Given the description of an element on the screen output the (x, y) to click on. 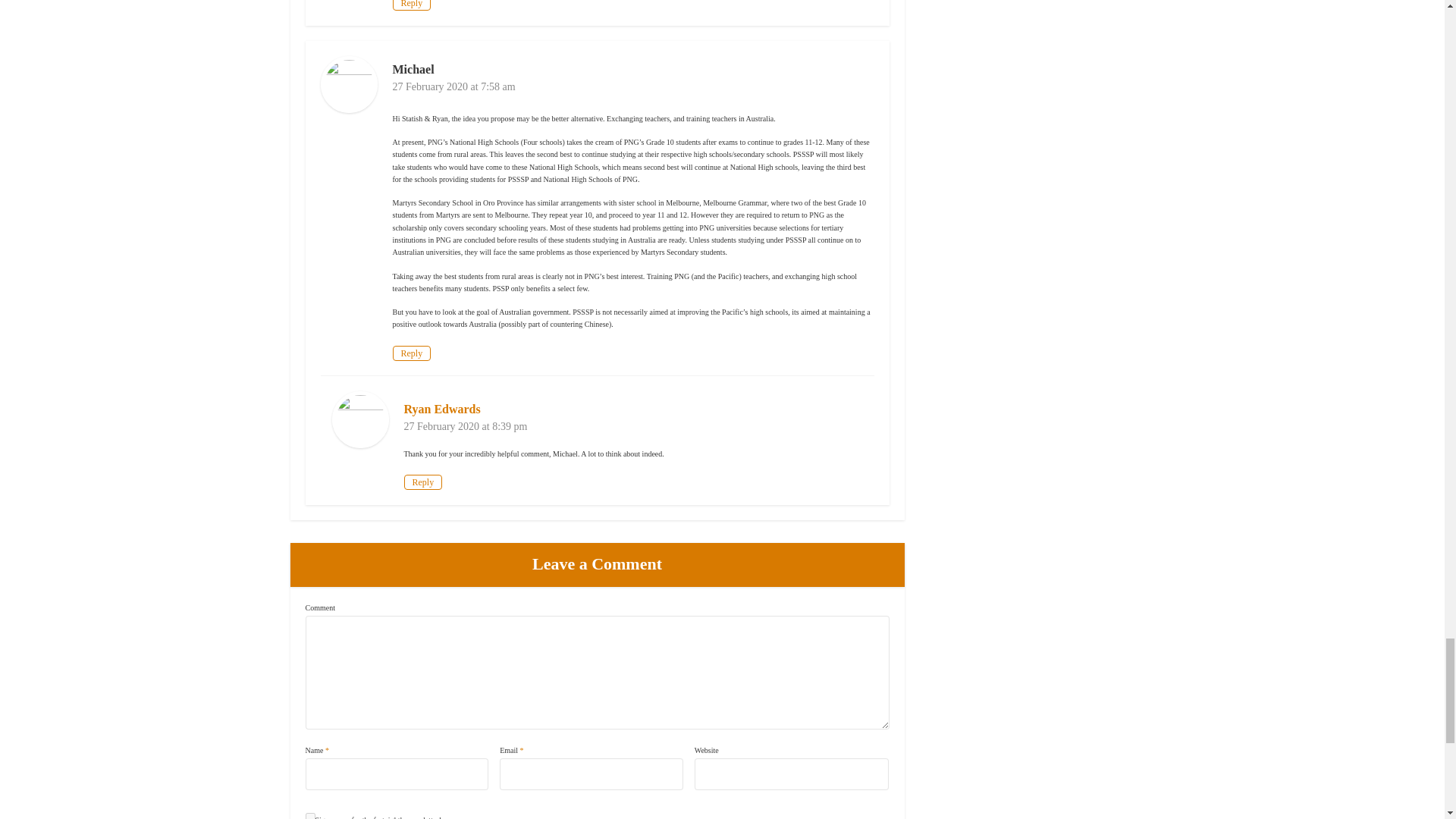
1 (309, 816)
